Given the description of an element on the screen output the (x, y) to click on. 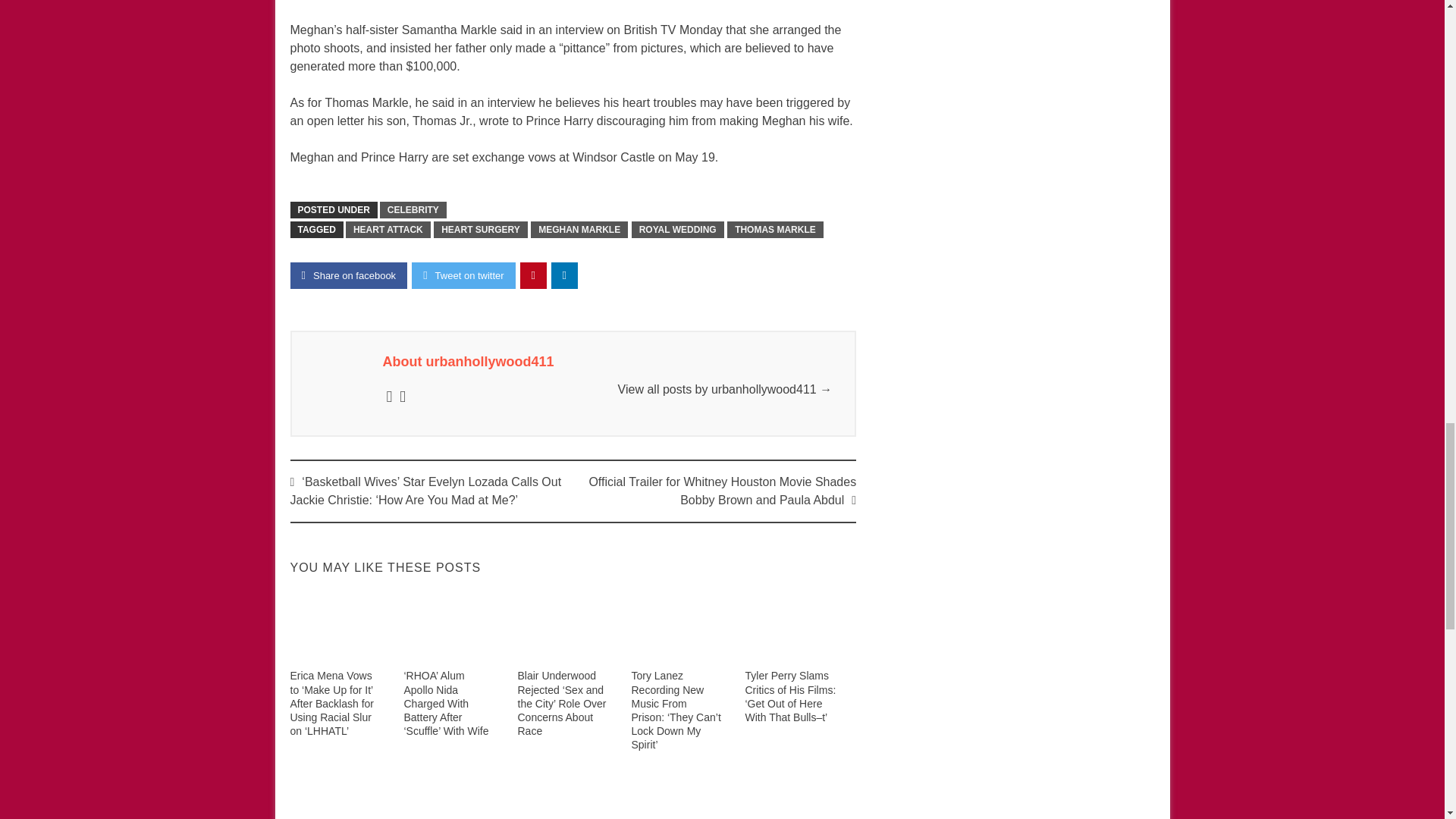
Tweet on twitter (463, 275)
HEART SURGERY (480, 229)
CELEBRITY (413, 209)
MEGHAN MARKLE (579, 229)
ROYAL WEDDING (677, 229)
Share on facebook (348, 275)
THOMAS MARKLE (775, 229)
HEART ATTACK (388, 229)
